Given the description of an element on the screen output the (x, y) to click on. 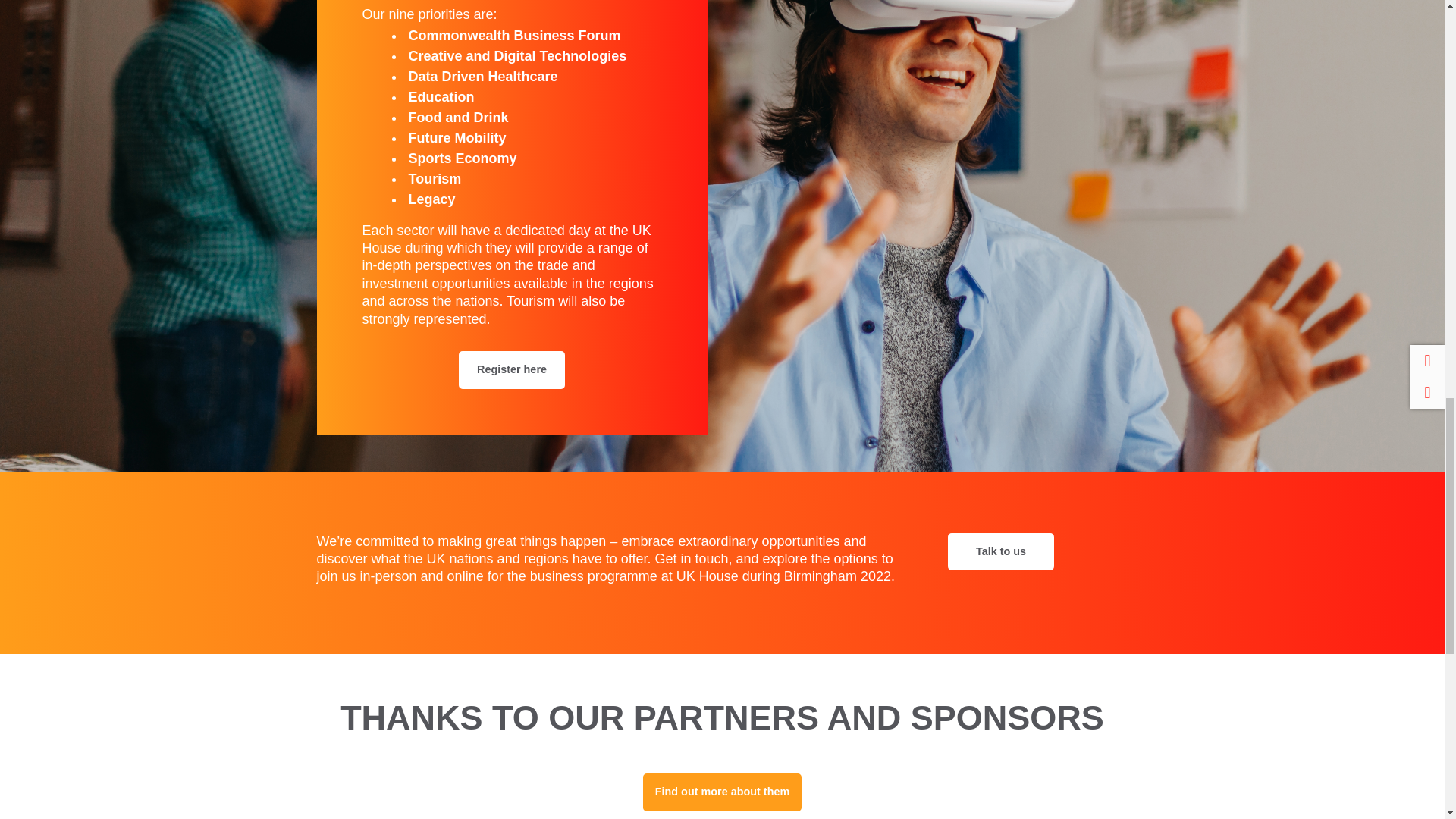
Register here (511, 370)
Creative and Digital Technologies (516, 55)
Talk to us (1000, 551)
Sports Economy (461, 158)
Commonwealth Business Forum (513, 35)
Tourism (434, 178)
Future Mobility (456, 137)
Education (440, 96)
Food and Drink (457, 117)
Find out more about them (722, 792)
Data Driven Healthcare (482, 76)
Legacy (430, 199)
